Given the description of an element on the screen output the (x, y) to click on. 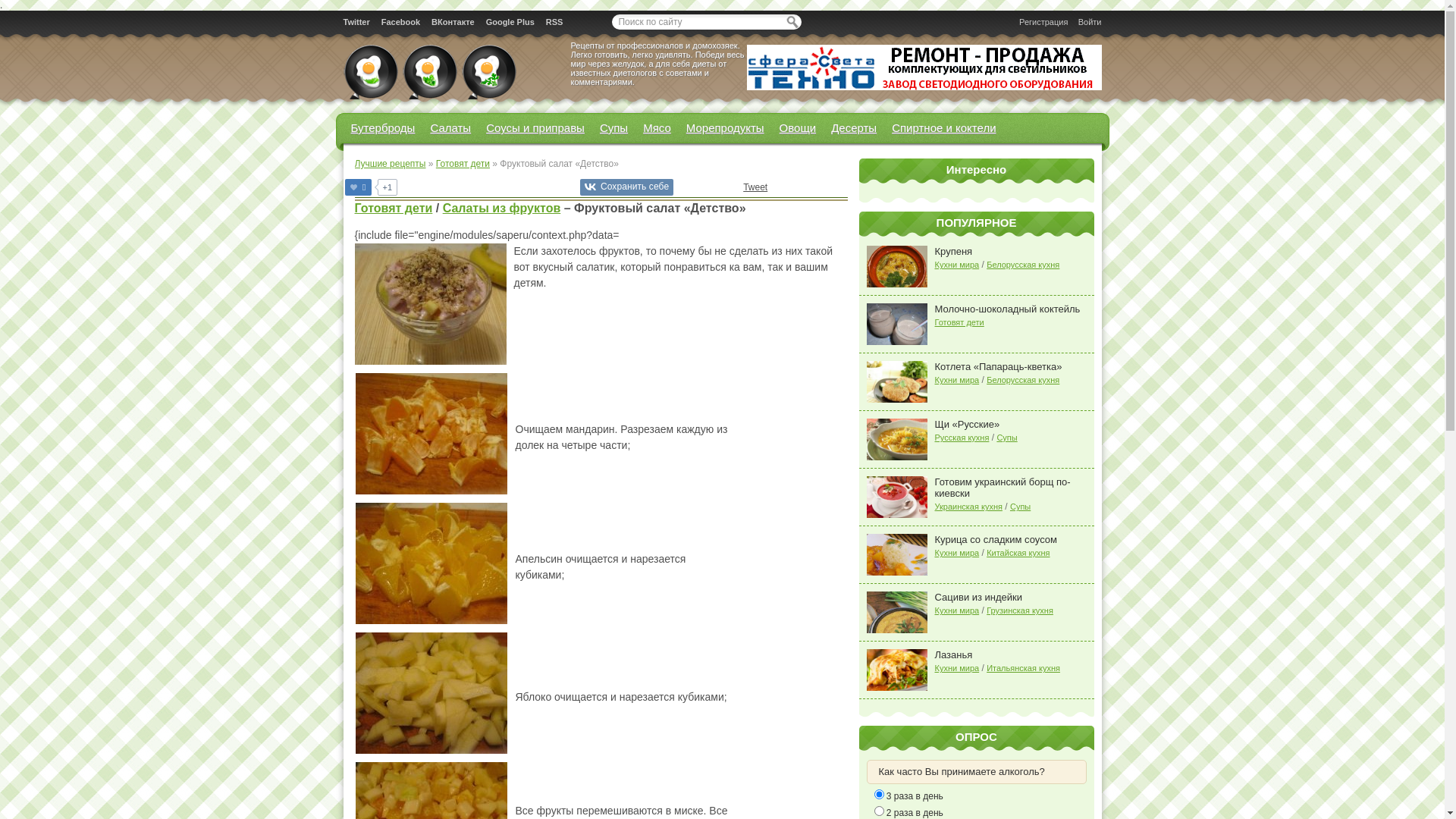
RSS Element type: text (554, 21)
Facebook Element type: text (400, 21)
Tweet Element type: text (755, 187)
Twitter Element type: text (355, 21)
Google Plus Element type: text (510, 21)
